Given the description of an element on the screen output the (x, y) to click on. 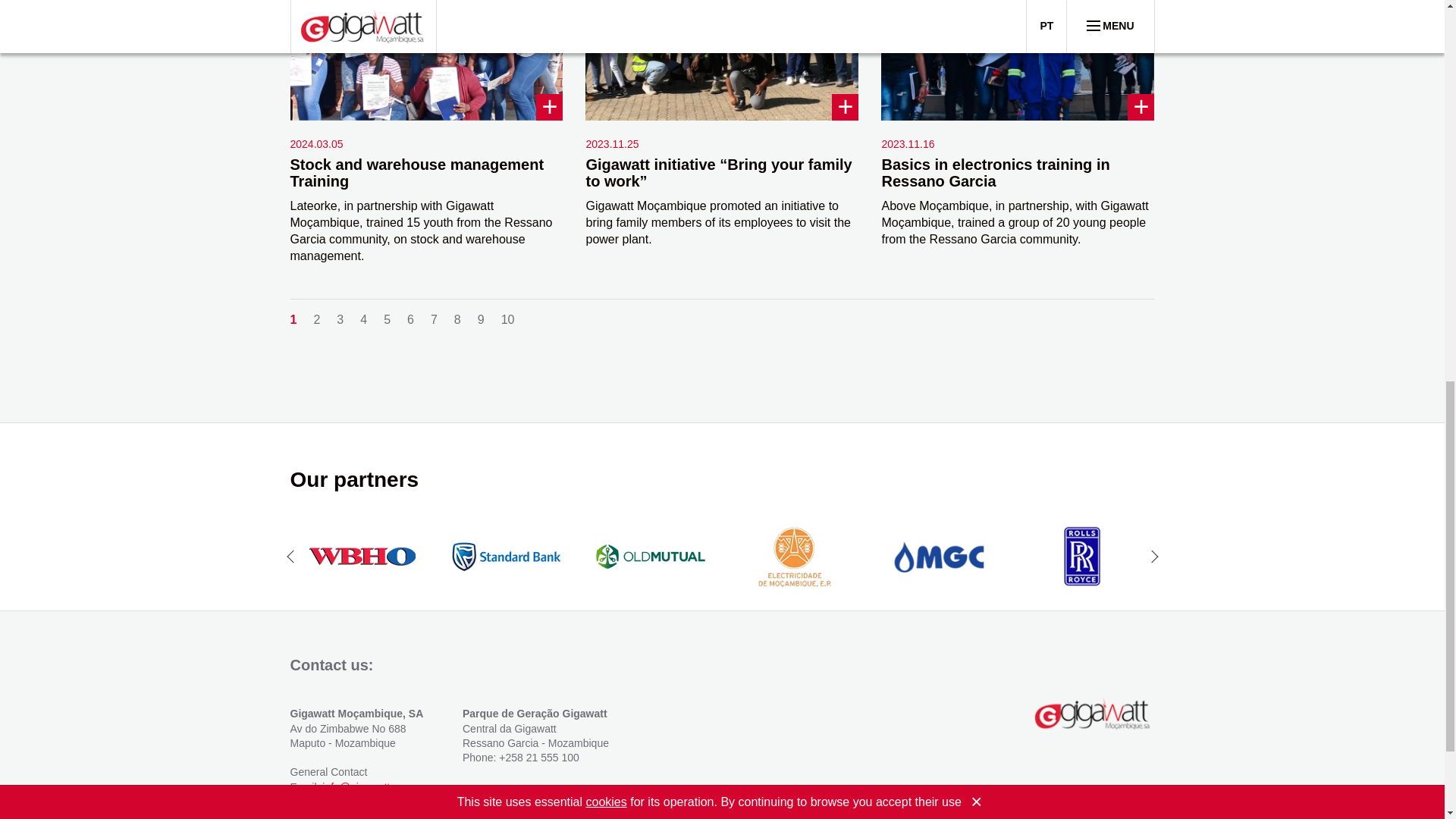
Stock and warehouse management Training (416, 172)
